Given the description of an element on the screen output the (x, y) to click on. 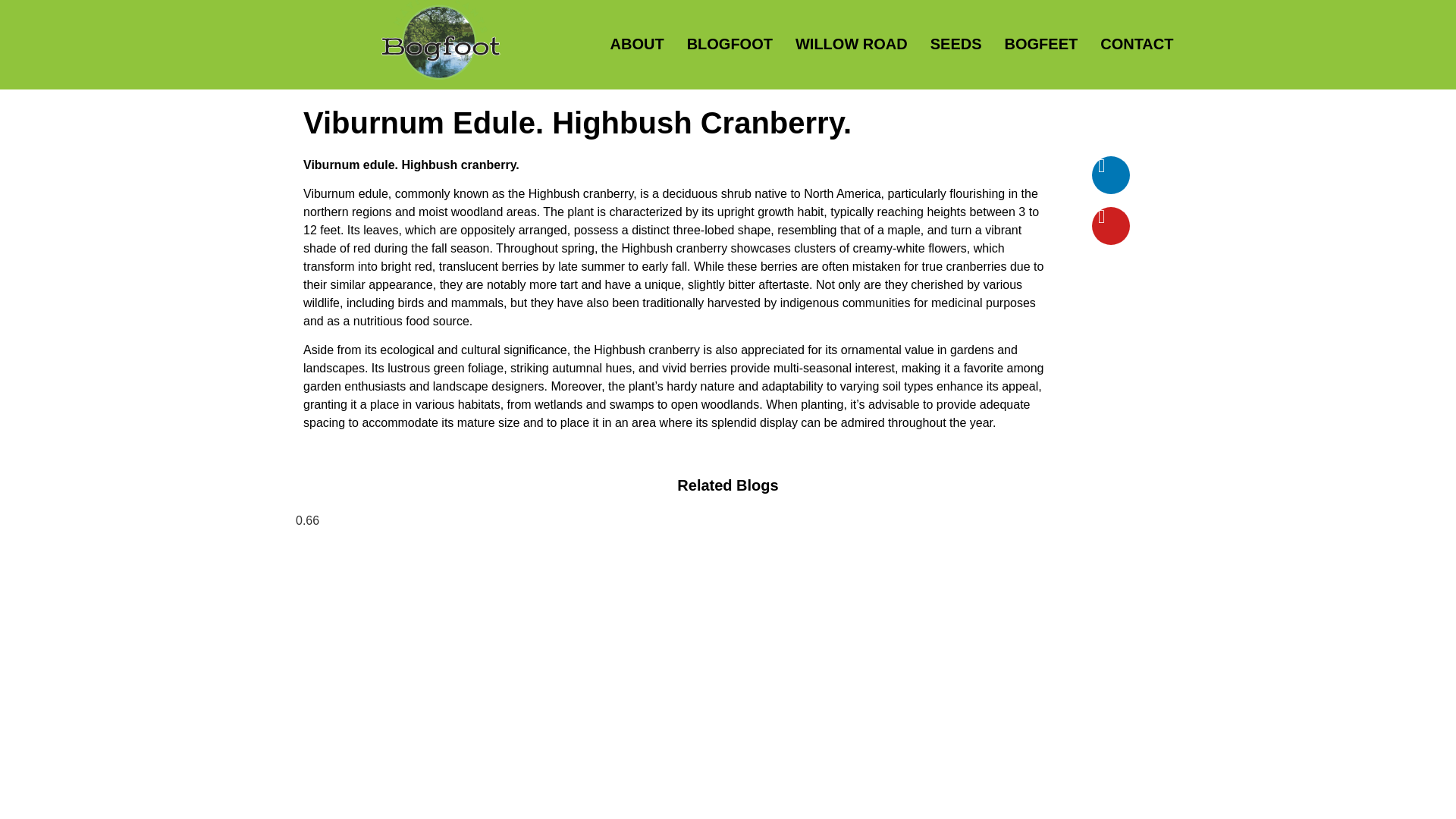
ABOUT (637, 44)
BOGFEET (1041, 44)
BLOGFOOT (729, 44)
WILLOW ROAD (851, 44)
CONTACT (1136, 44)
SEEDS (956, 44)
